Given the description of an element on the screen output the (x, y) to click on. 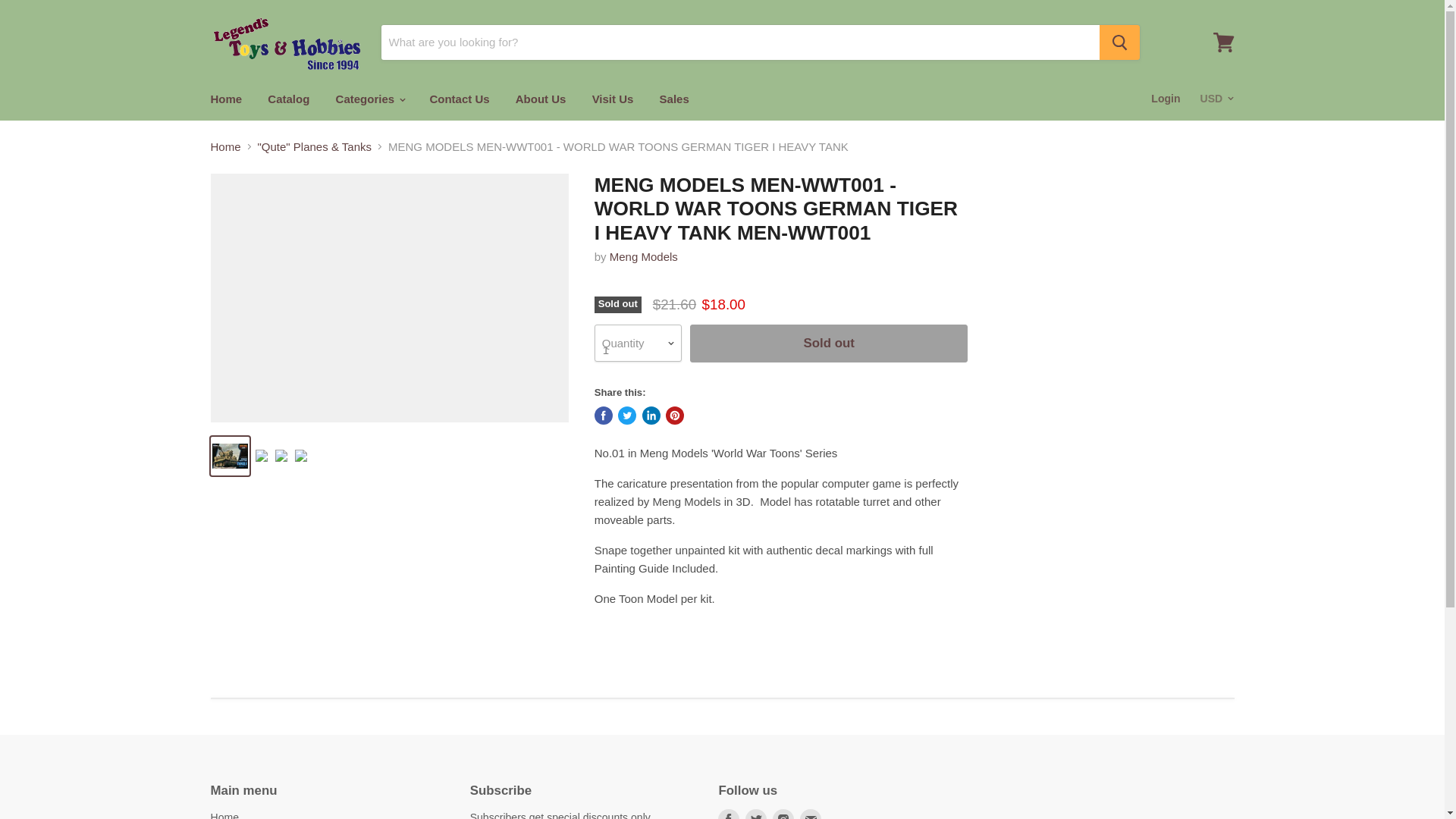
Twitter (756, 812)
Catalog (288, 98)
Instagram (783, 812)
View cart (1223, 42)
Facebook (728, 812)
Categories (369, 98)
Meng Models (644, 256)
E-mail (810, 812)
Home (225, 98)
